Given the description of an element on the screen output the (x, y) to click on. 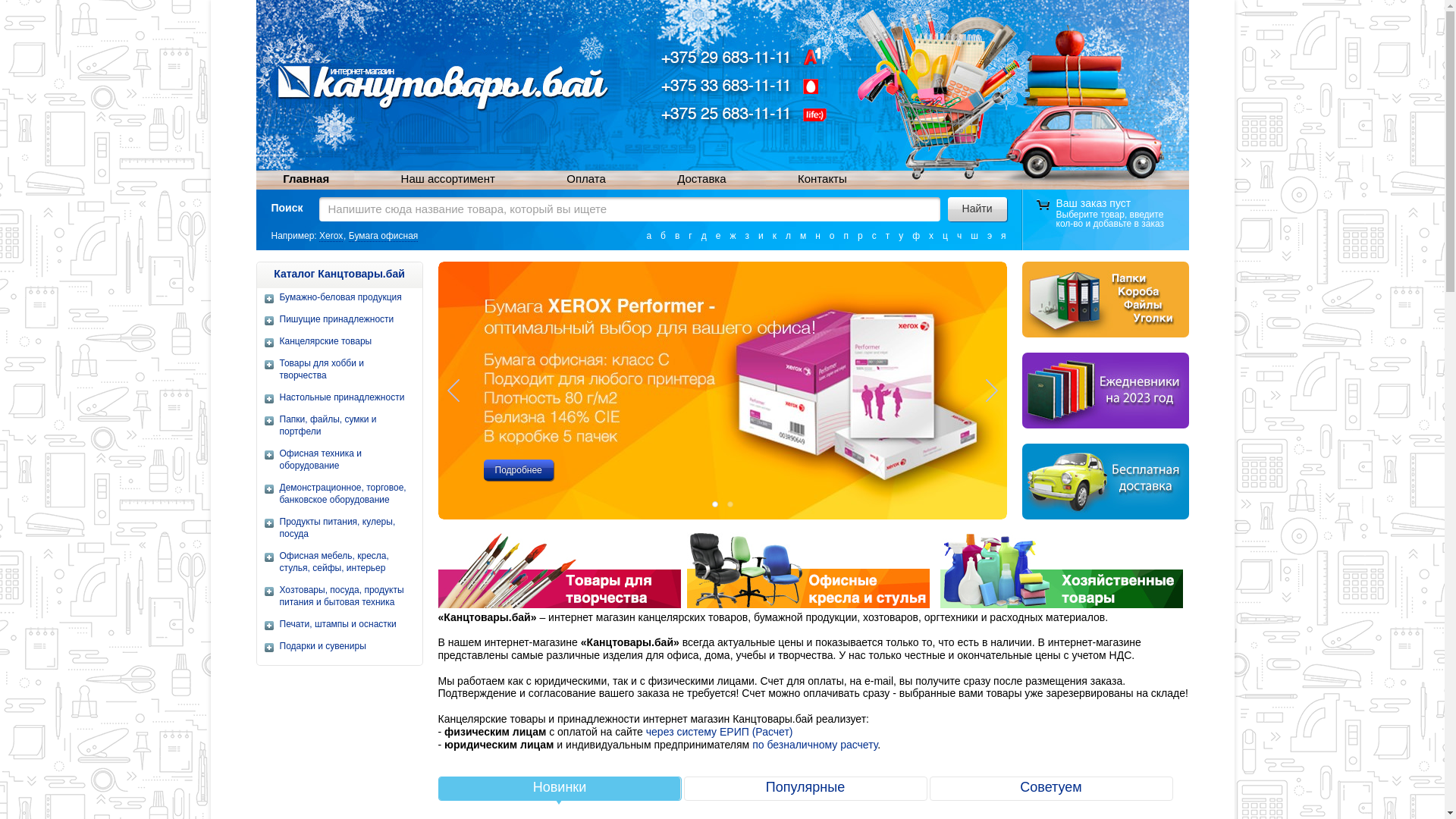
2 Element type: text (729, 503)
1 Element type: text (713, 503)
